Given the description of an element on the screen output the (x, y) to click on. 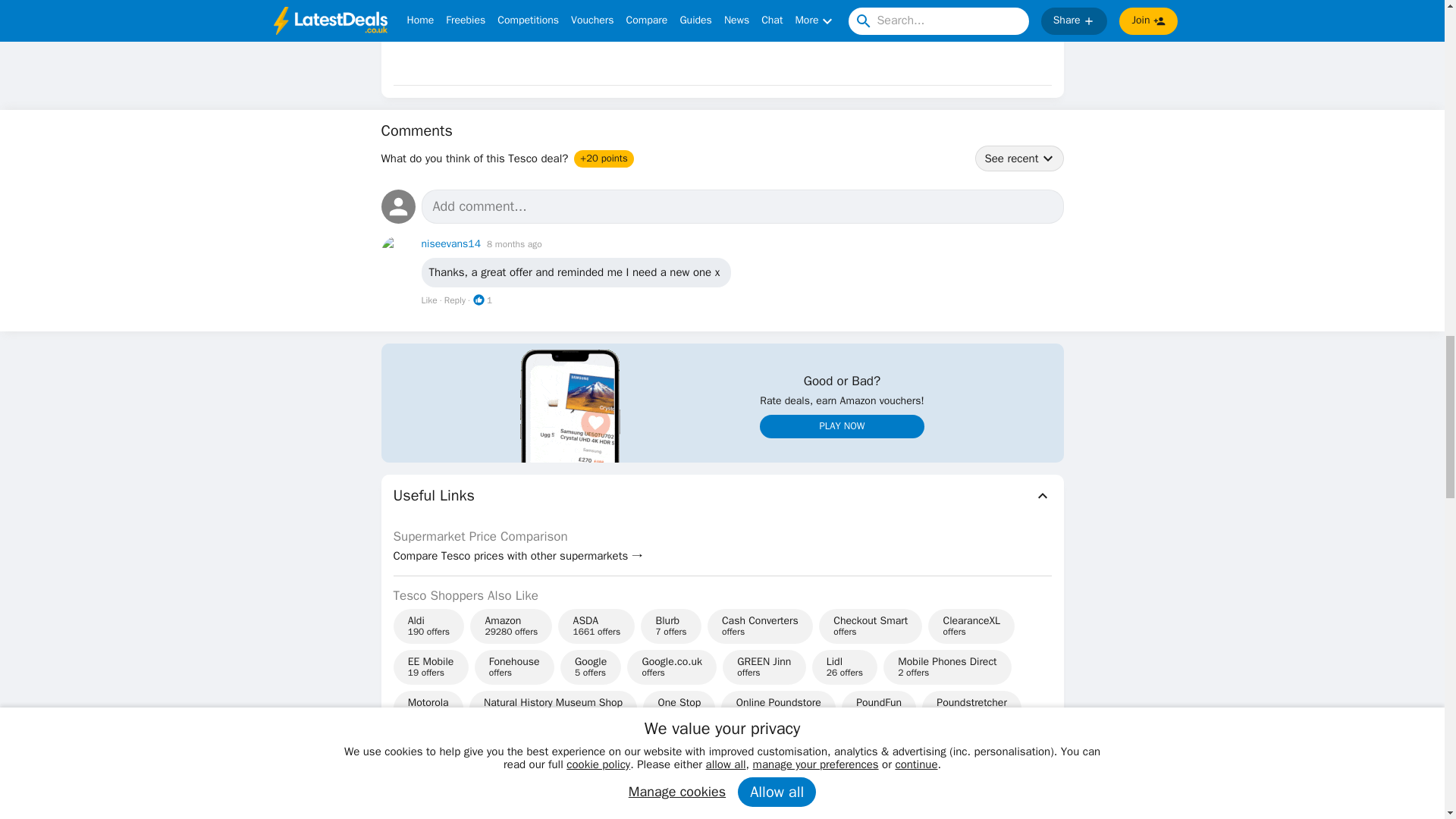
niseevans14 (451, 243)
